Given the description of an element on the screen output the (x, y) to click on. 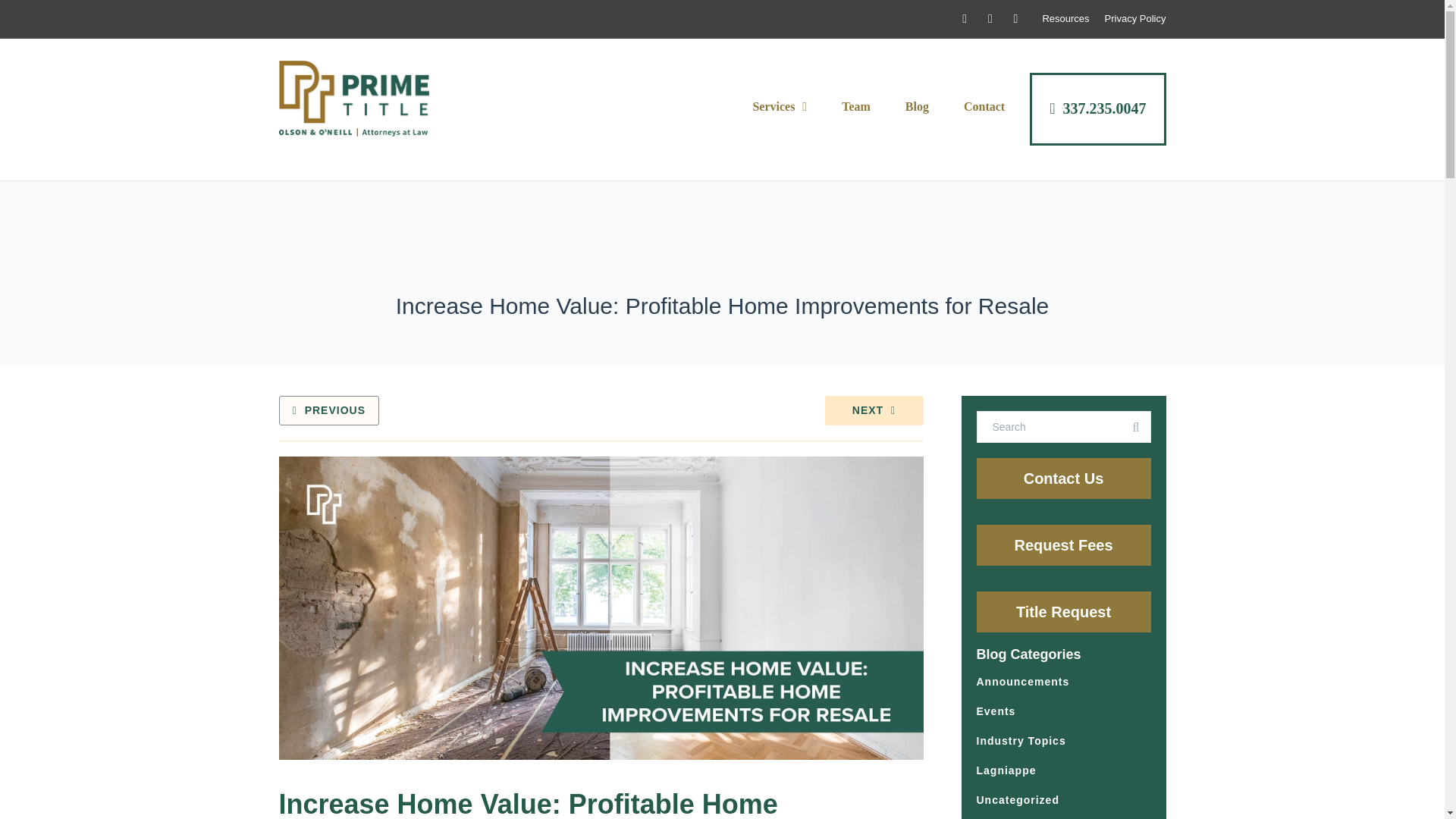
PREVIOUS (328, 410)
Resources (1065, 18)
Privacy Policy (1135, 18)
Increase Home Value: Profitable Home Improvements for Resale (528, 803)
337.235.0047 (1097, 108)
Team (856, 106)
Prime Title (354, 98)
Increase Home Value: Profitable Home Improvements for Resale (528, 803)
Services (779, 106)
NEXT (874, 410)
Contact (984, 106)
